Given the description of an element on the screen output the (x, y) to click on. 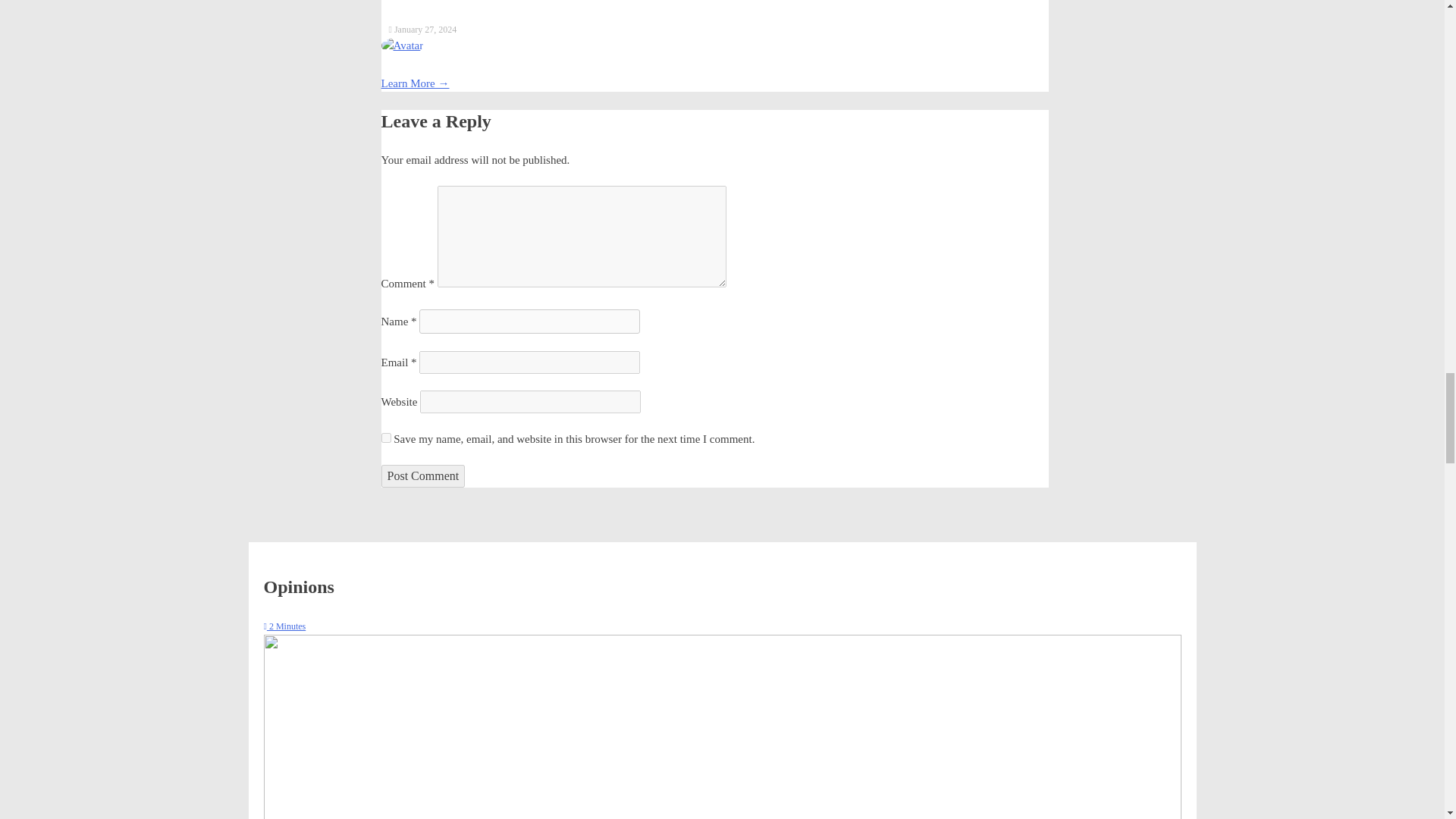
Post Comment (422, 476)
yes (385, 438)
Estimated Reading Time of Article (284, 625)
